Given the description of an element on the screen output the (x, y) to click on. 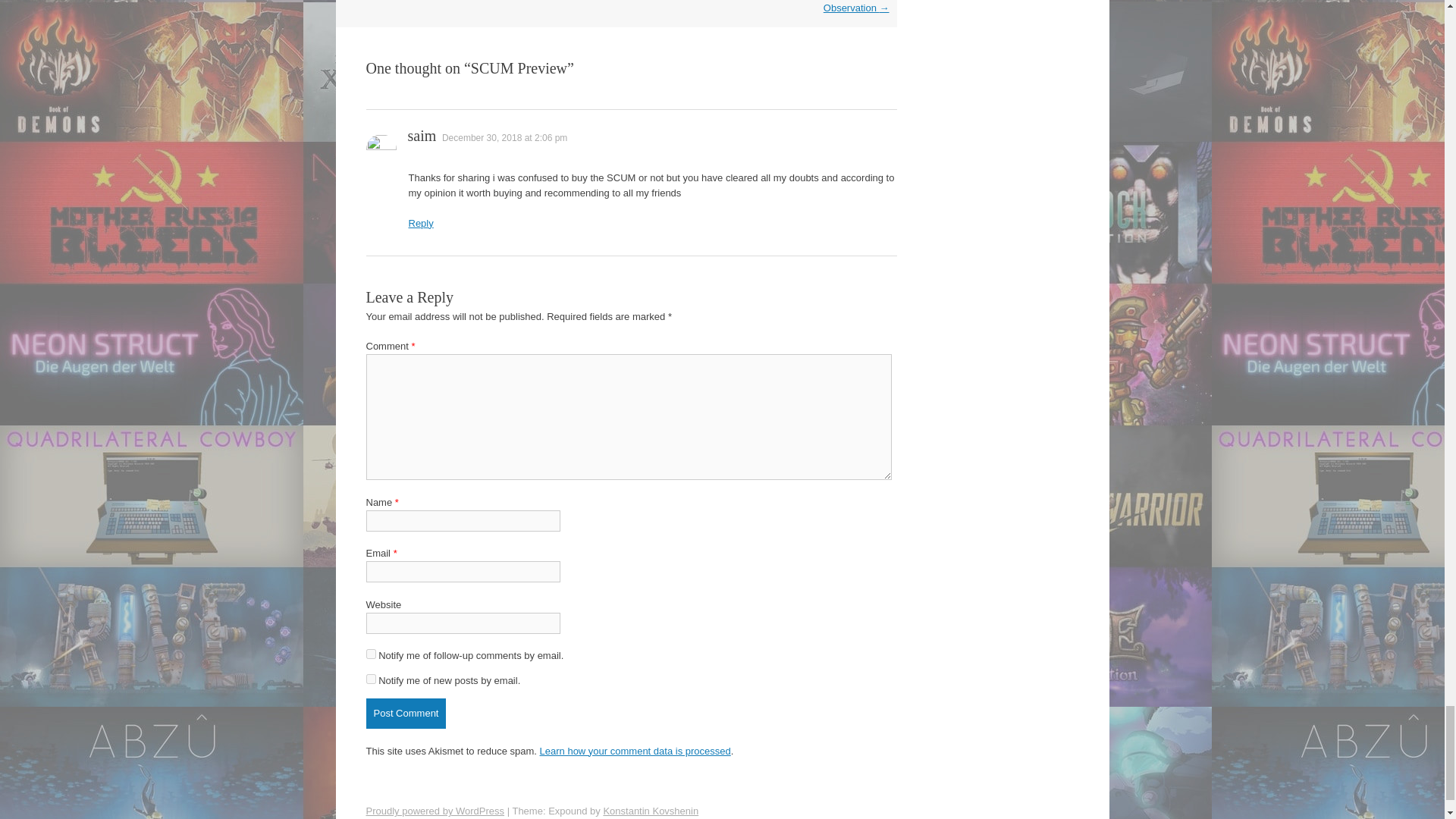
Post Comment (405, 713)
subscribe (370, 678)
subscribe (370, 654)
